Given the description of an element on the screen output the (x, y) to click on. 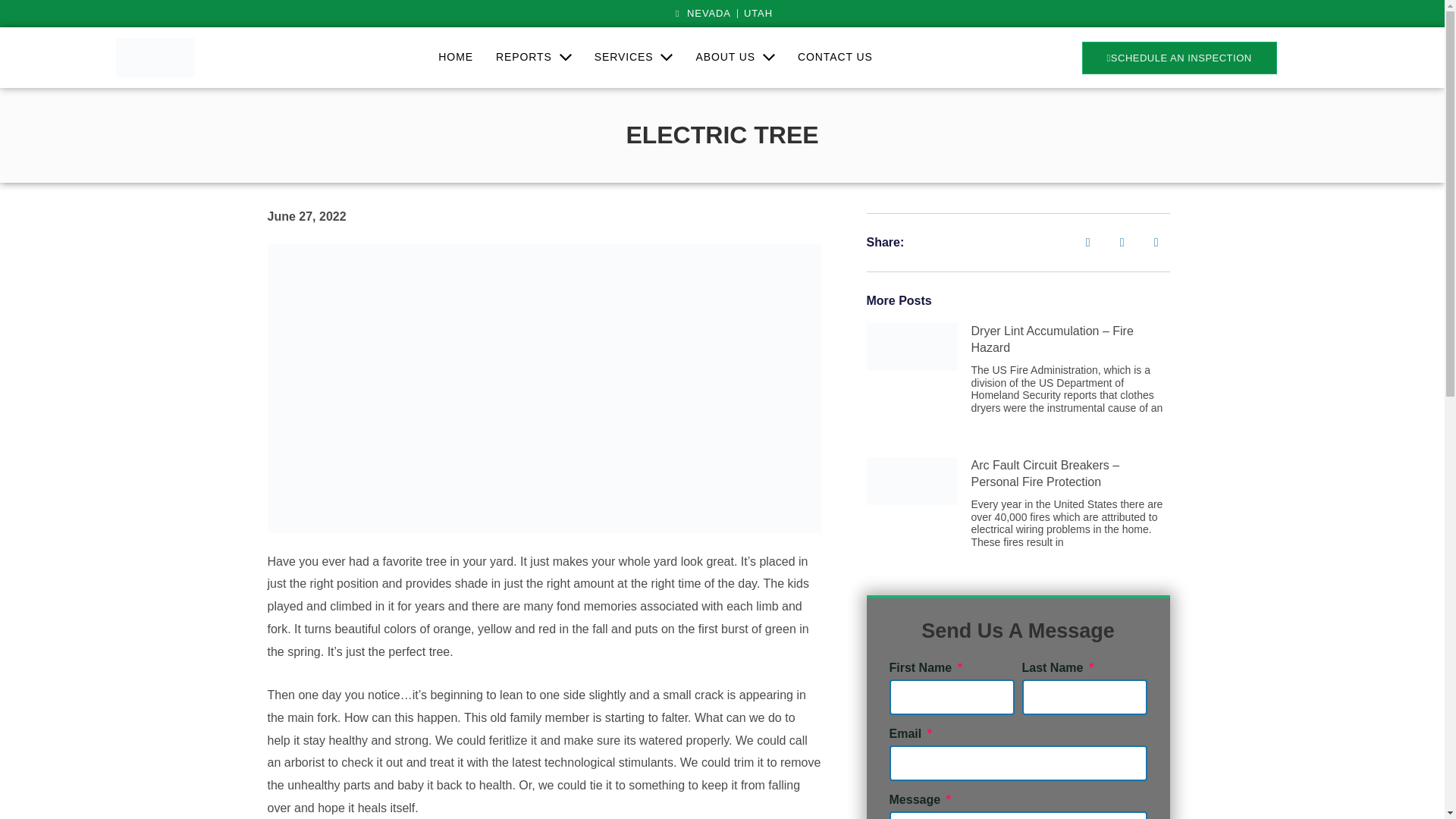
June 27, 2022 (306, 216)
REPORTS (533, 57)
UTAH (758, 13)
SERVICES (633, 57)
SCHEDULE AN INSPECTION (1178, 57)
CONTACT US (834, 57)
HOME (455, 57)
ABOUT US (735, 57)
NEVADA (700, 13)
